Given the description of an element on the screen output the (x, y) to click on. 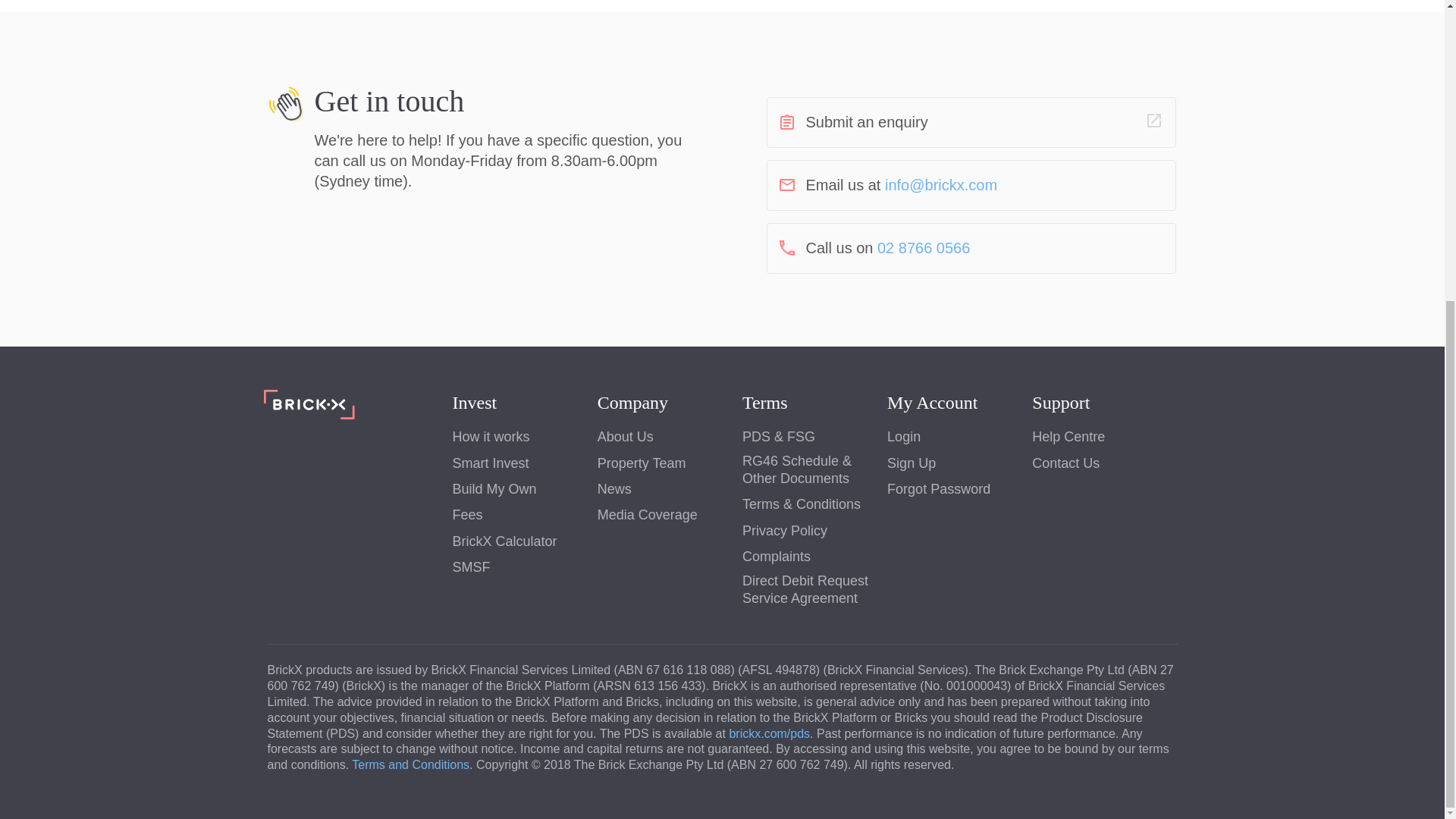
About Us (624, 436)
Property Team (640, 463)
Login (903, 436)
SMSF (470, 567)
News (613, 488)
Smart Invest (489, 463)
Fees (466, 515)
BrickX Calculator (503, 541)
Complaints (776, 556)
Direct Debit Request Service Agreement (814, 590)
